Given the description of an element on the screen output the (x, y) to click on. 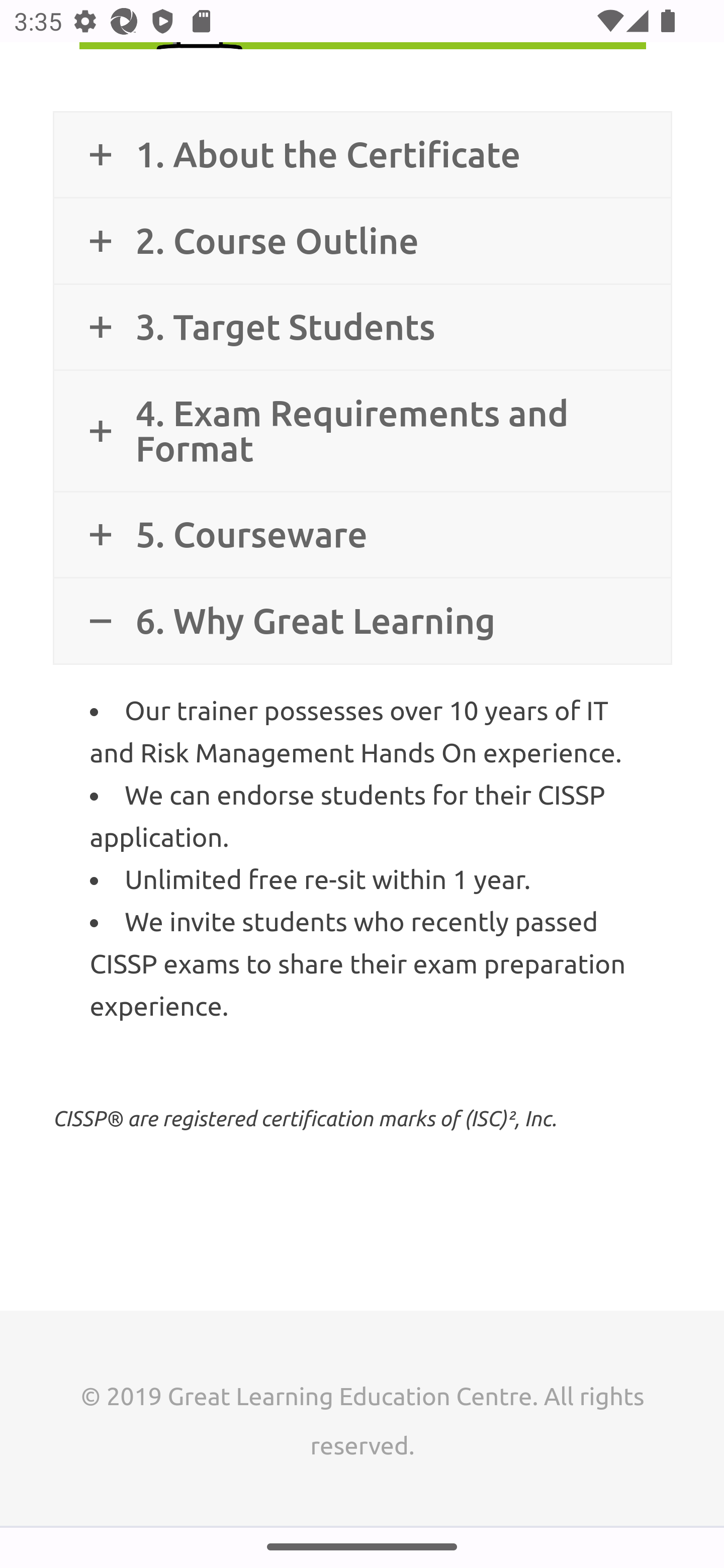
5. Courseware 5. Courseware 5. Courseware (361, 535)
